Given the description of an element on the screen output the (x, y) to click on. 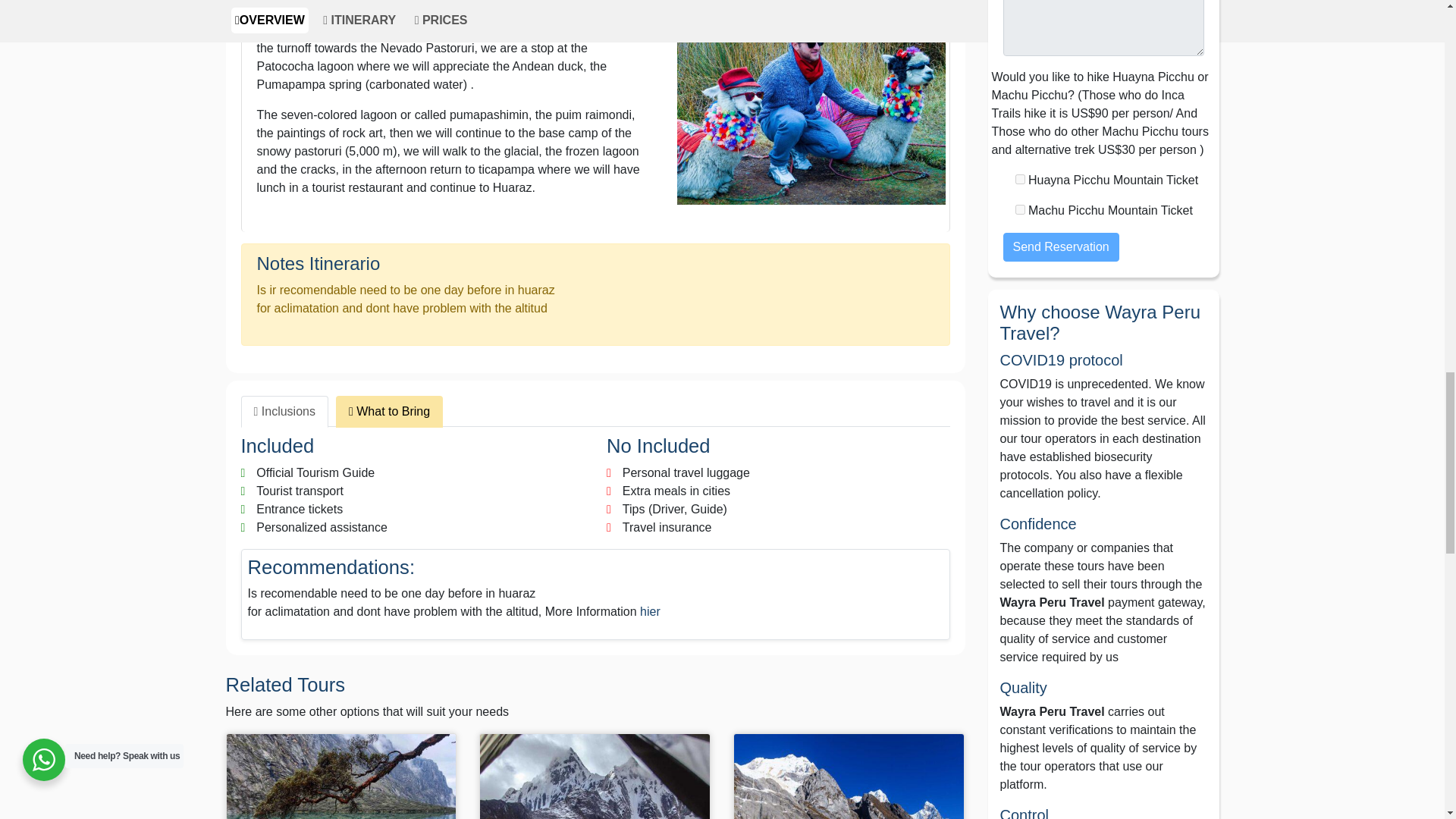
Huayna Picchu Mountain Ticket (1019, 179)
Machu Picchu Mountain Ticket (1019, 209)
Send Reservation (1060, 246)
